Given the description of an element on the screen output the (x, y) to click on. 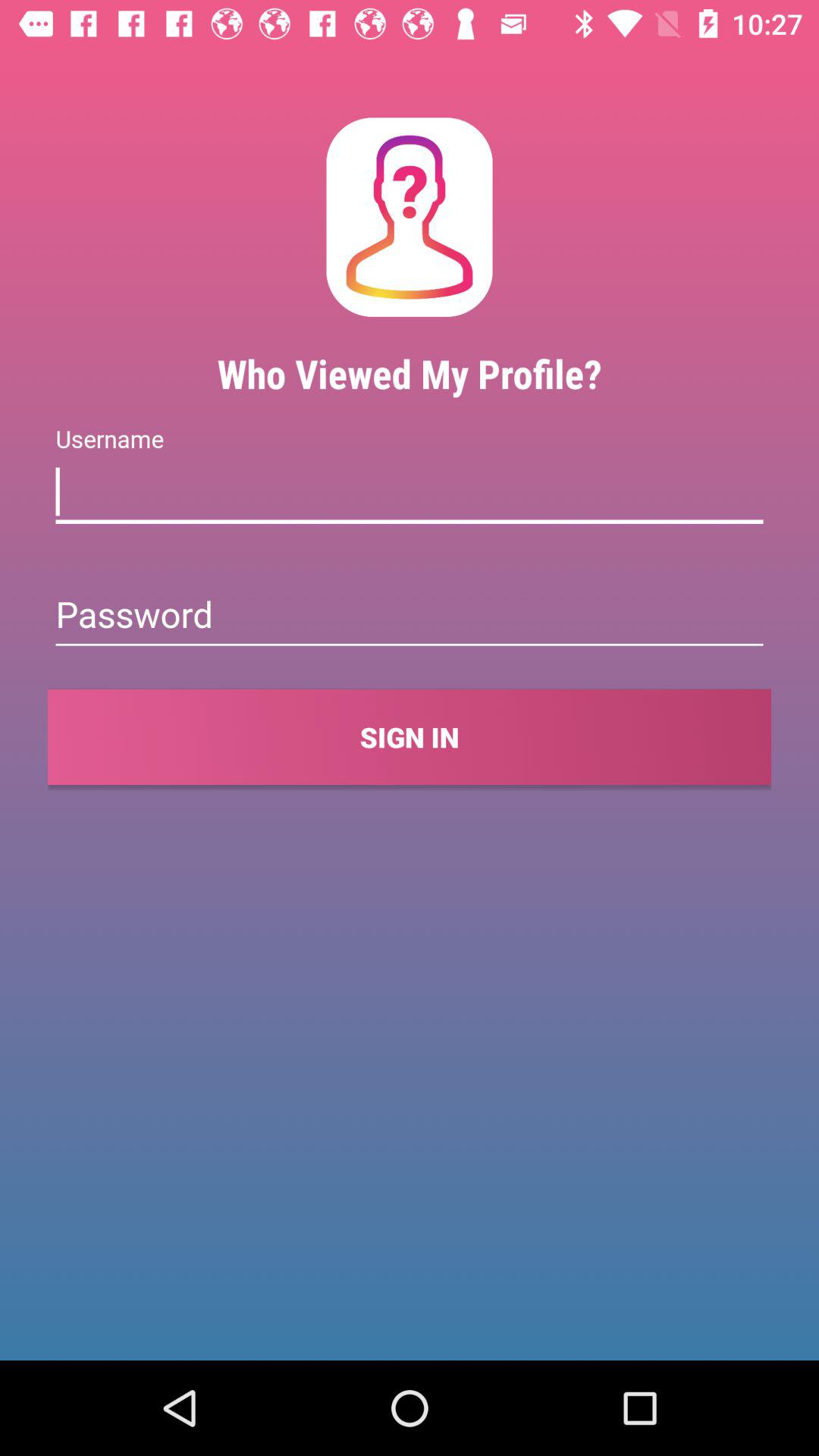
tap the sign in item (409, 736)
